Given the description of an element on the screen output the (x, y) to click on. 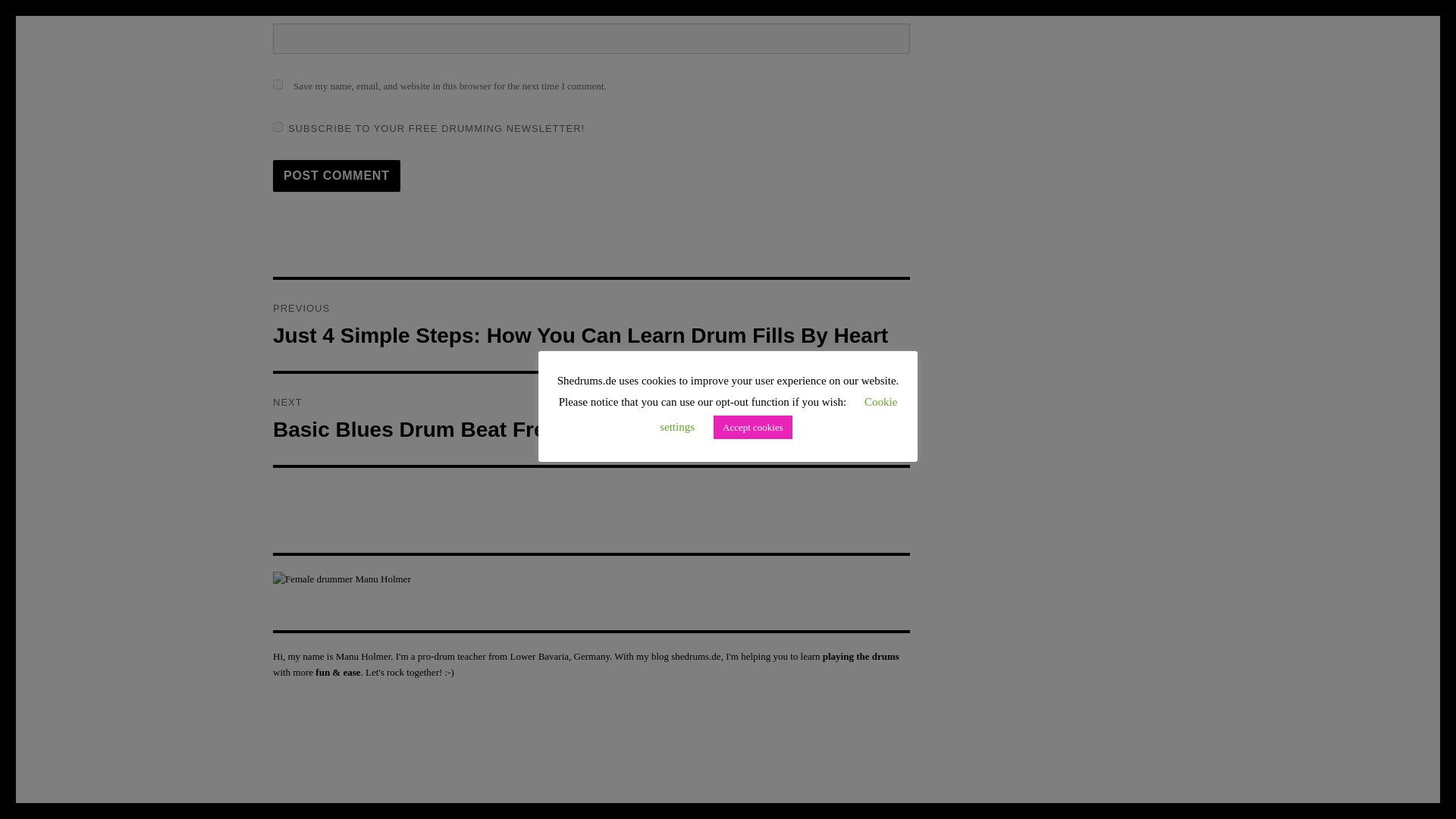
Post Comment (336, 175)
